Given the description of an element on the screen output the (x, y) to click on. 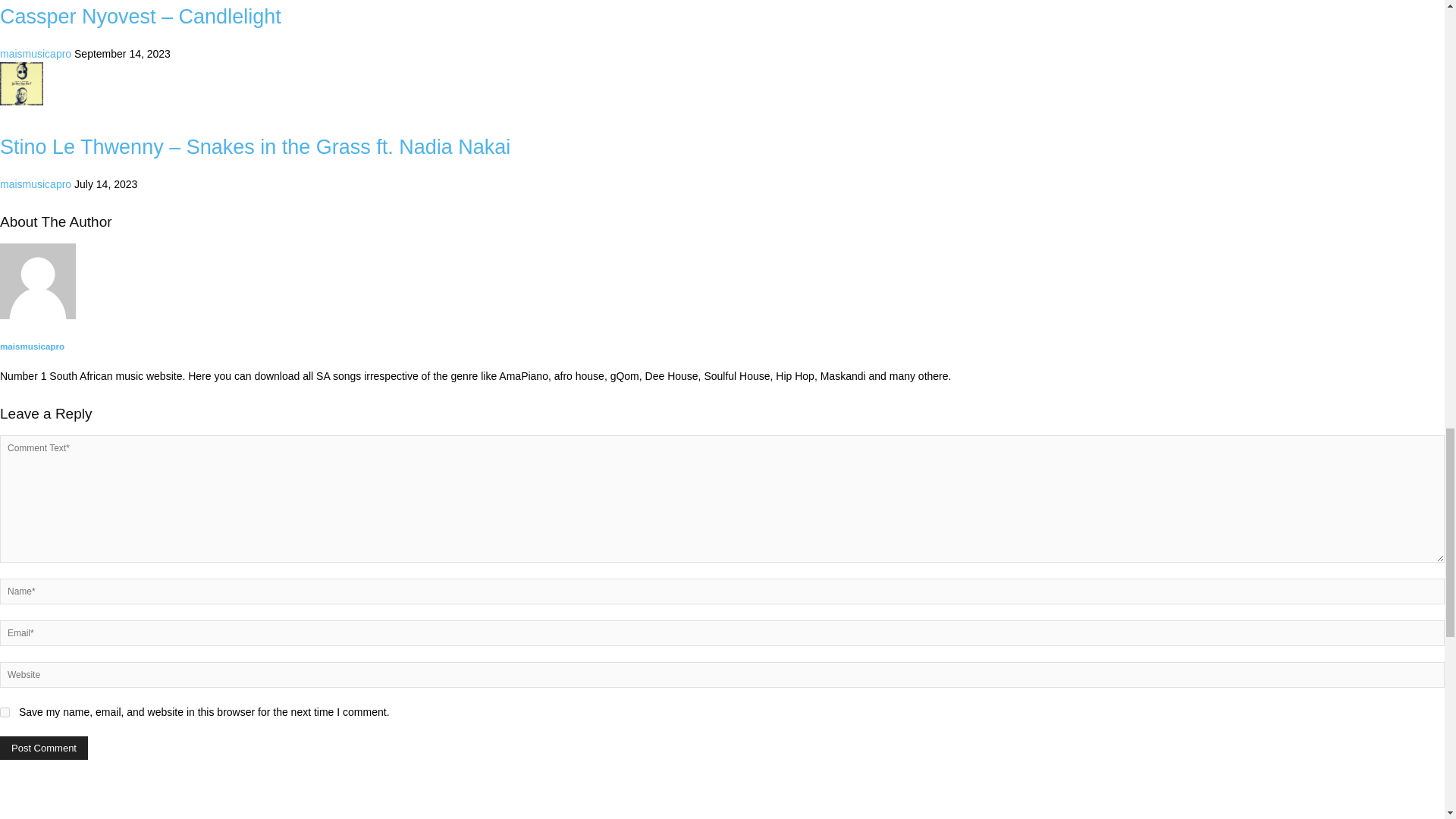
Post Comment (43, 748)
maismusicapro (35, 184)
maismusicapro (35, 53)
yes (5, 712)
